Given the description of an element on the screen output the (x, y) to click on. 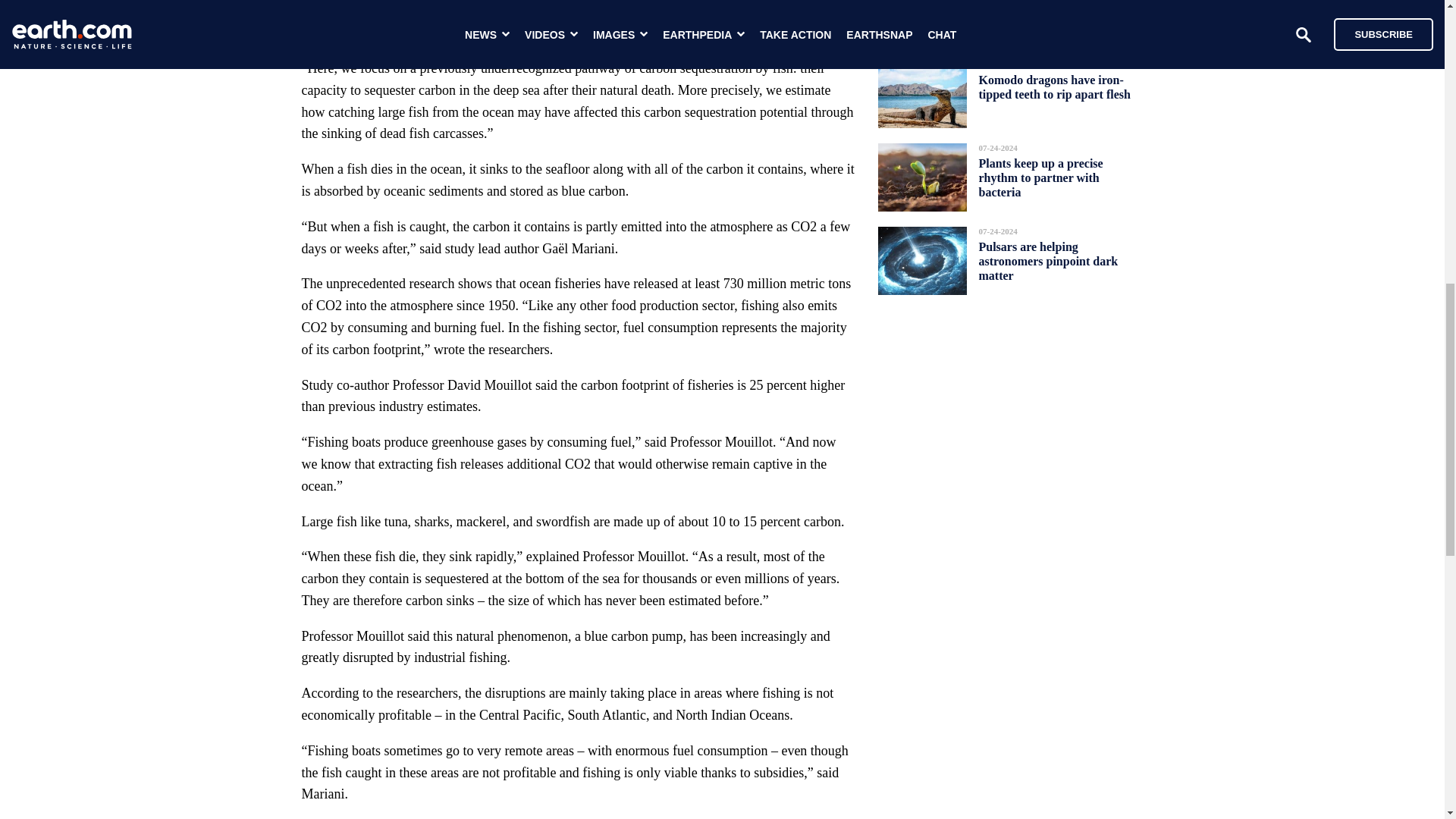
Plants keep up a precise rhythm to partner with bacteria (1040, 177)
Pulsars are helping astronomers pinpoint dark matter (1048, 260)
Komodo dragons have iron-tipped teeth to rip apart flesh (1053, 87)
At what age do Olympic athletes perform their best? (1049, 12)
